Given the description of an element on the screen output the (x, y) to click on. 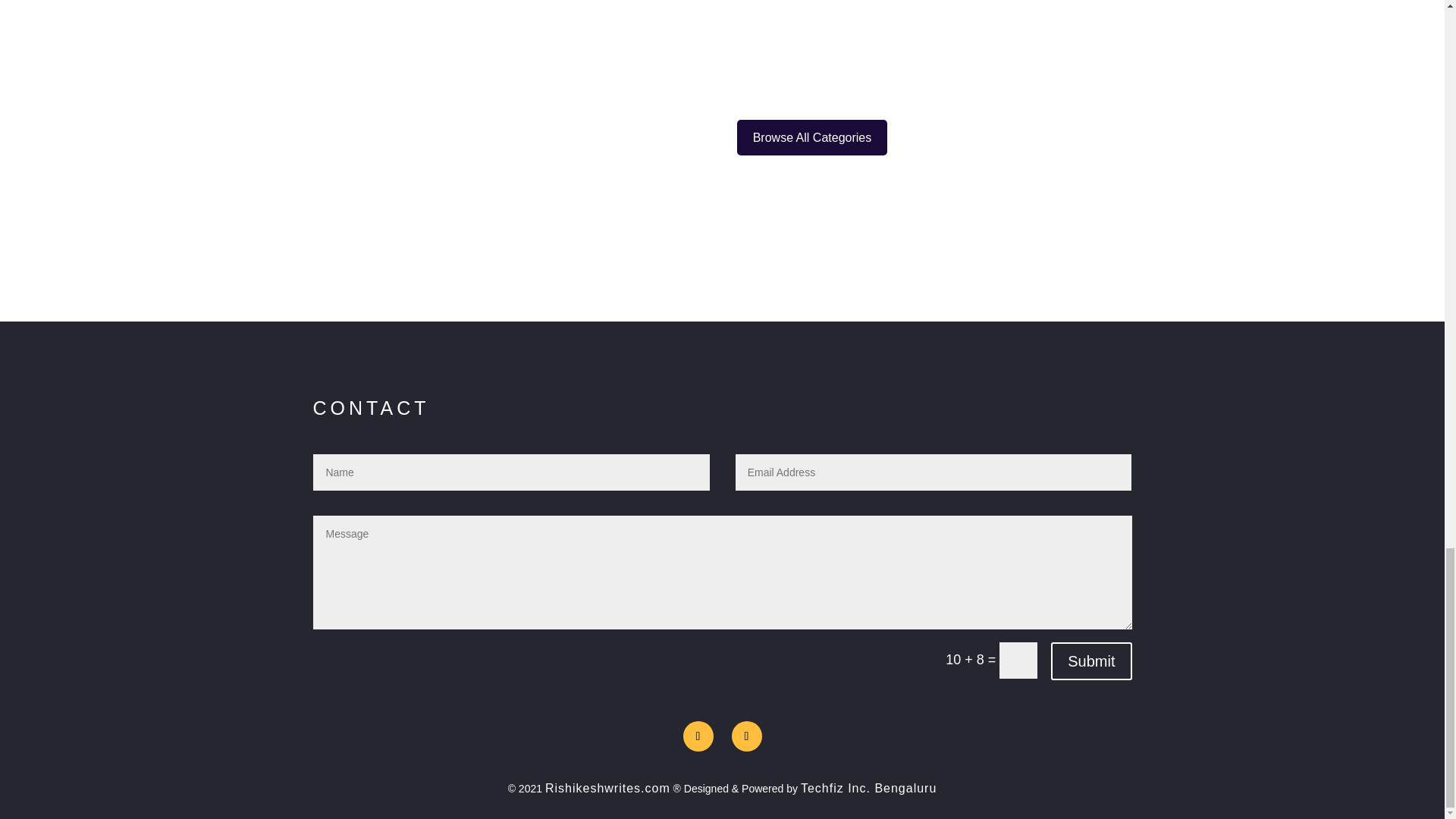
Follow on Facebook (697, 736)
Follow on Twitter (745, 736)
Techfiz Inc. Bengaluru (868, 788)
Rishikeshwrites.com (606, 788)
Submit (1091, 661)
Browse All Categories (812, 137)
